Given the description of an element on the screen output the (x, y) to click on. 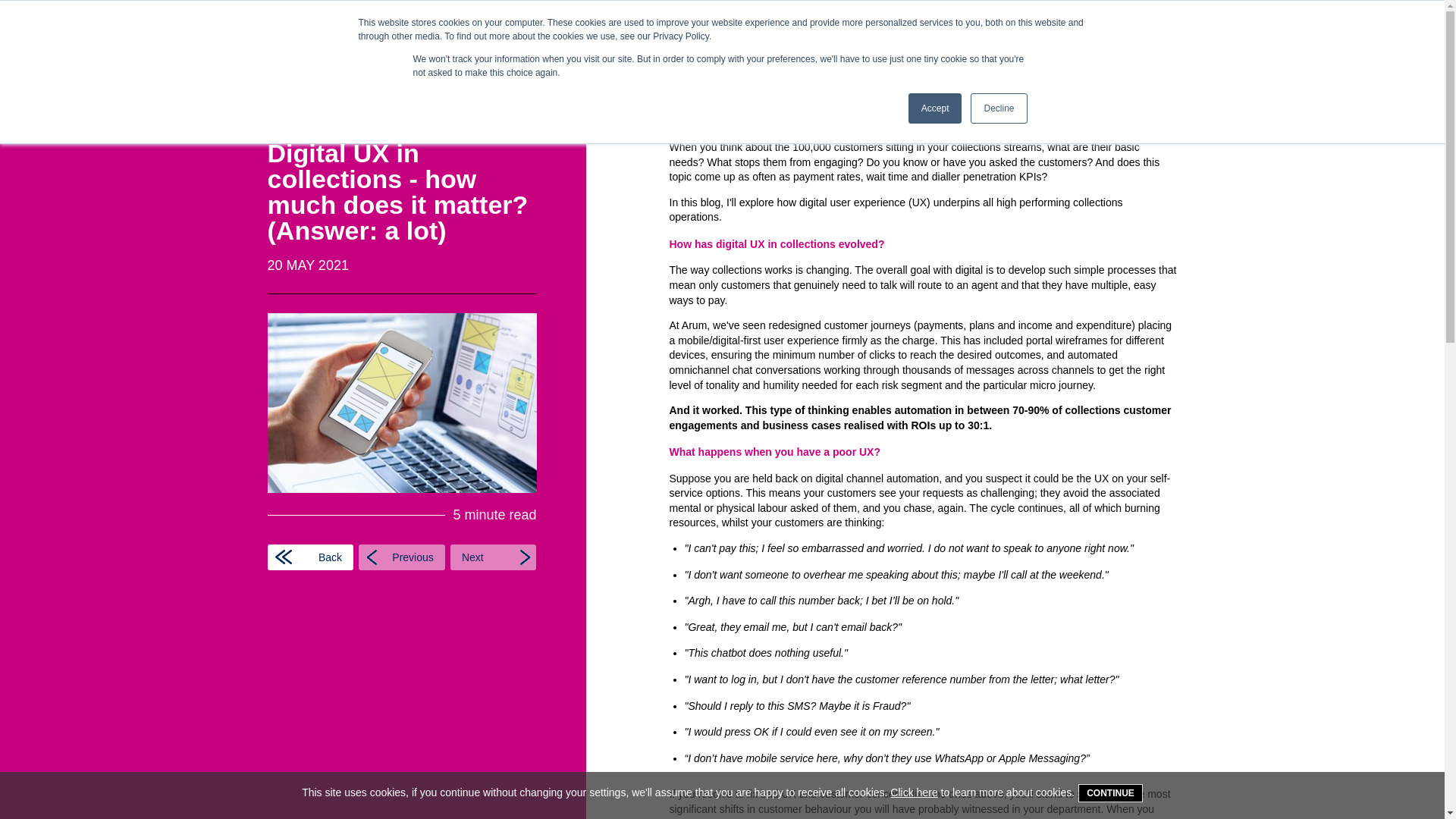
Arum Approved (843, 51)
Decline (998, 108)
Why Arum (942, 51)
Services (749, 51)
Accept (935, 108)
